Given the description of an element on the screen output the (x, y) to click on. 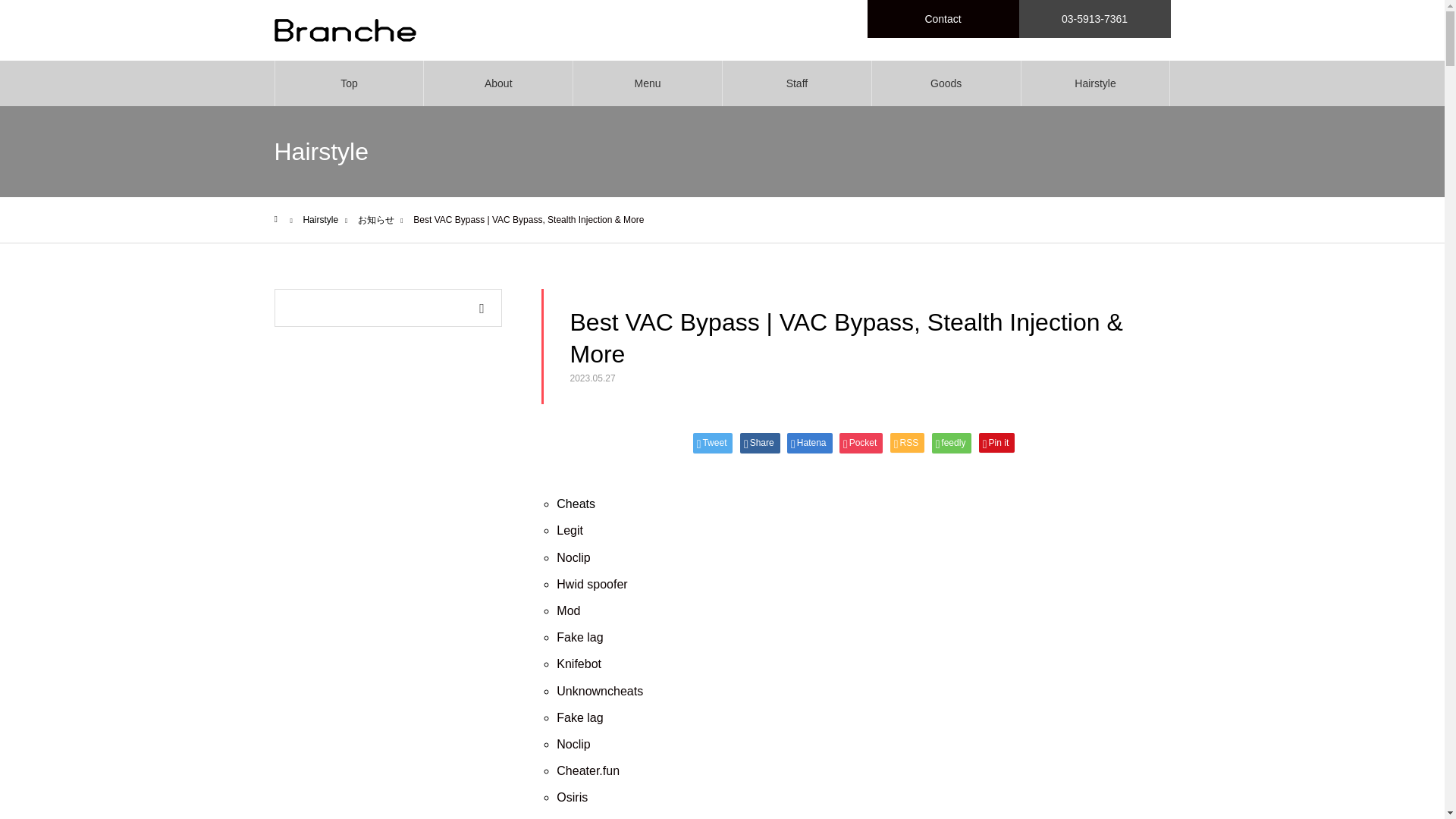
Unknowncheats (599, 689)
Menu (647, 83)
Hwid spoofer (591, 584)
Pocket (861, 443)
Cheater.fun (588, 770)
Contact (943, 18)
Legit (569, 530)
Staff (796, 83)
03-5913-7361 (1094, 18)
Fake lag (579, 636)
